Given the description of an element on the screen output the (x, y) to click on. 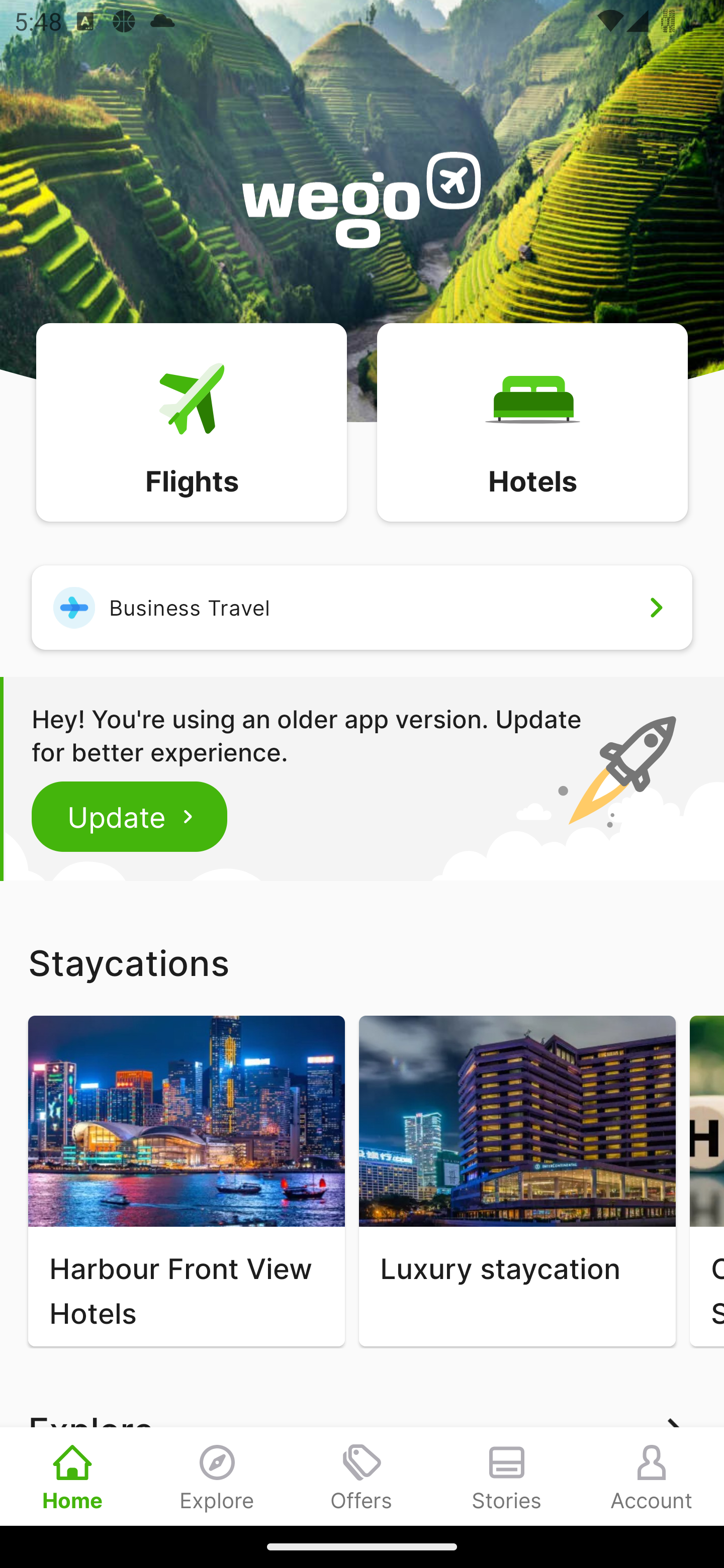
Flights (191, 420)
Hotels (532, 420)
Business Travel (361, 607)
Update (129, 815)
Staycations (362, 962)
Harbour Front View Hotels (186, 1181)
Luxury staycation (517, 1181)
Explore (216, 1475)
Offers (361, 1475)
Stories (506, 1475)
Account (651, 1475)
